Given the description of an element on the screen output the (x, y) to click on. 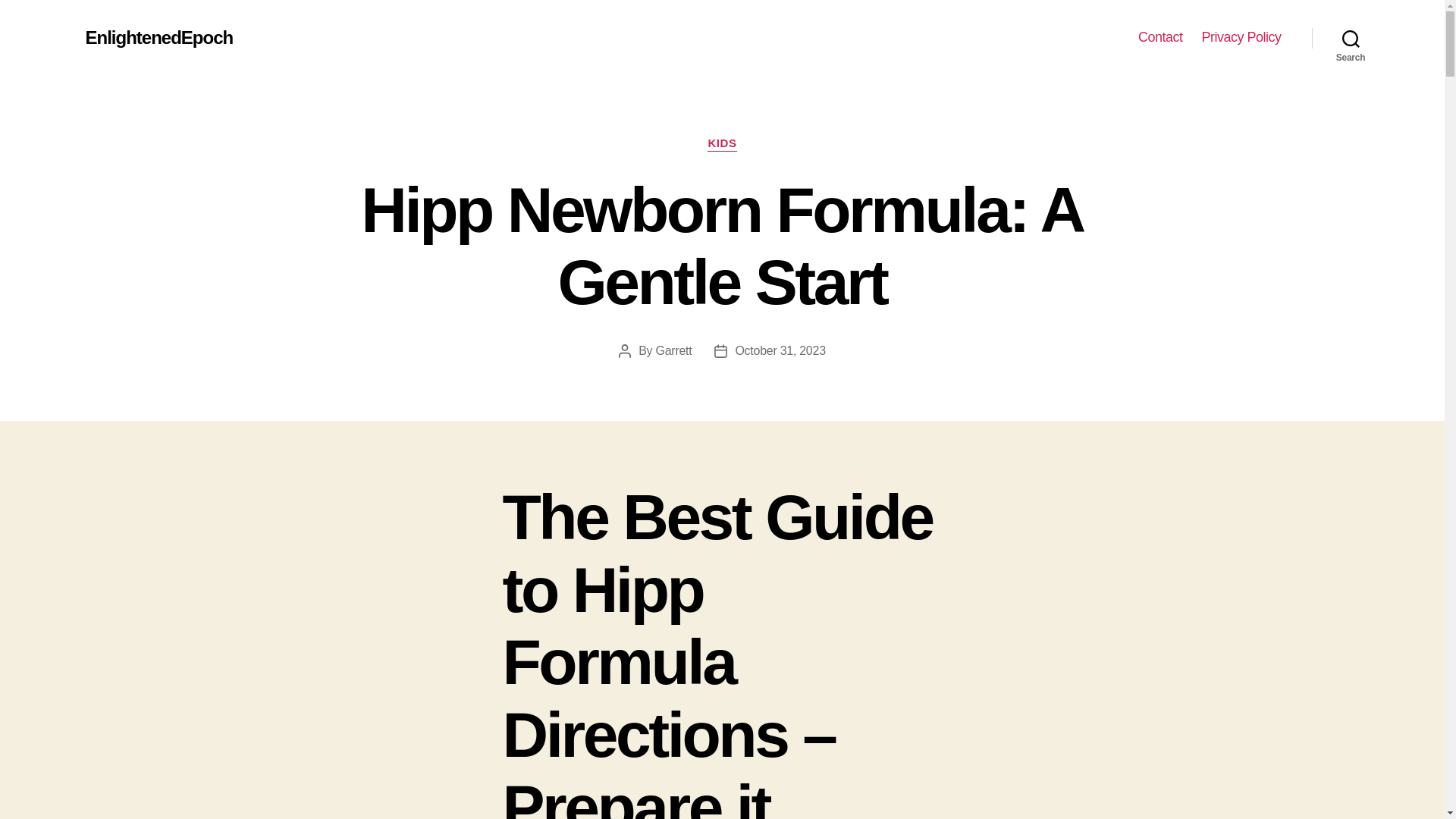
Contact (1160, 37)
Search (1350, 37)
October 31, 2023 (780, 350)
KIDS (721, 143)
EnlightenedEpoch (158, 37)
Garrett (674, 350)
Privacy Policy (1241, 37)
